Given the description of an element on the screen output the (x, y) to click on. 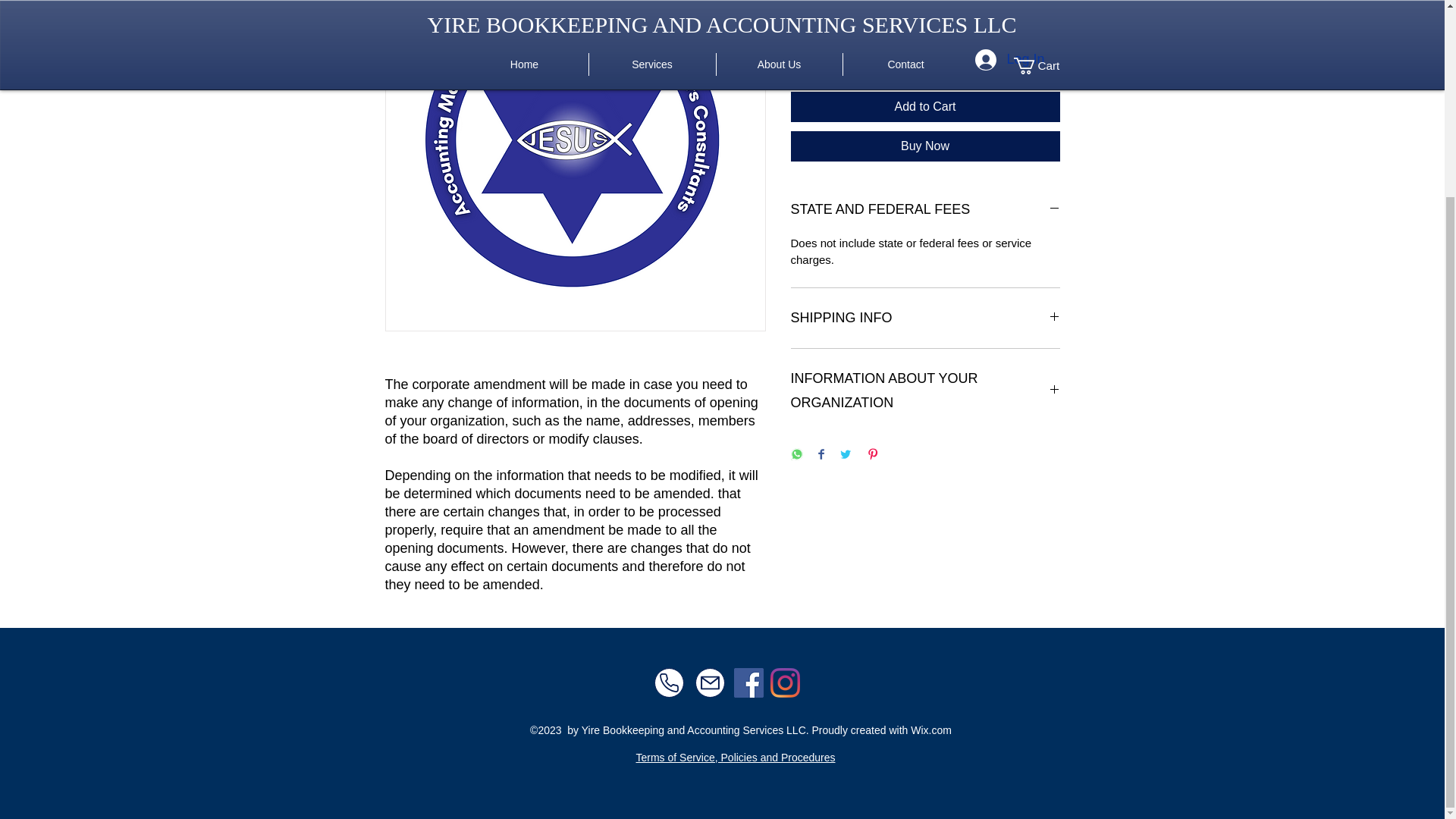
Buy Now (924, 146)
Add to Cart (924, 106)
1 (818, 51)
Terms of Service, Policies and Procedures (734, 757)
SHIPPING INFO (924, 318)
STATE AND FEDERAL FEES (924, 209)
INFORMATION ABOUT YOUR ORGANIZATION (924, 390)
